Given the description of an element on the screen output the (x, y) to click on. 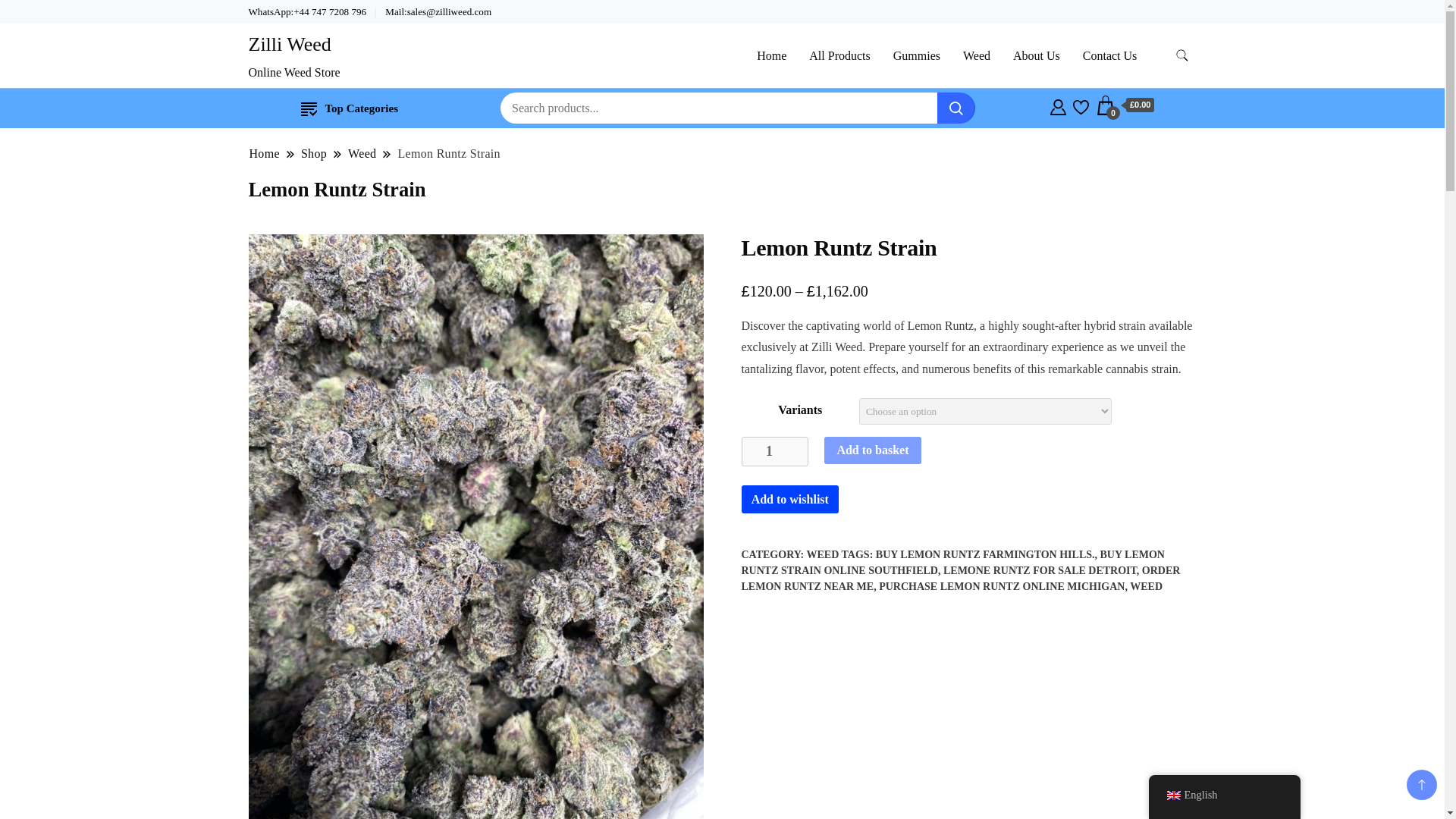
Cart (1125, 105)
Add to wishlist (789, 499)
Home (264, 153)
Shop (313, 153)
Products in Wishlist (1081, 105)
English (1172, 795)
About Us (1036, 55)
All Products (839, 55)
Zilli Weed (289, 44)
Gummies (916, 55)
Lemon Runtz Strain (448, 153)
Weed (362, 153)
1 (775, 451)
Add to basket (872, 450)
Contact Us (1110, 55)
